Given the description of an element on the screen output the (x, y) to click on. 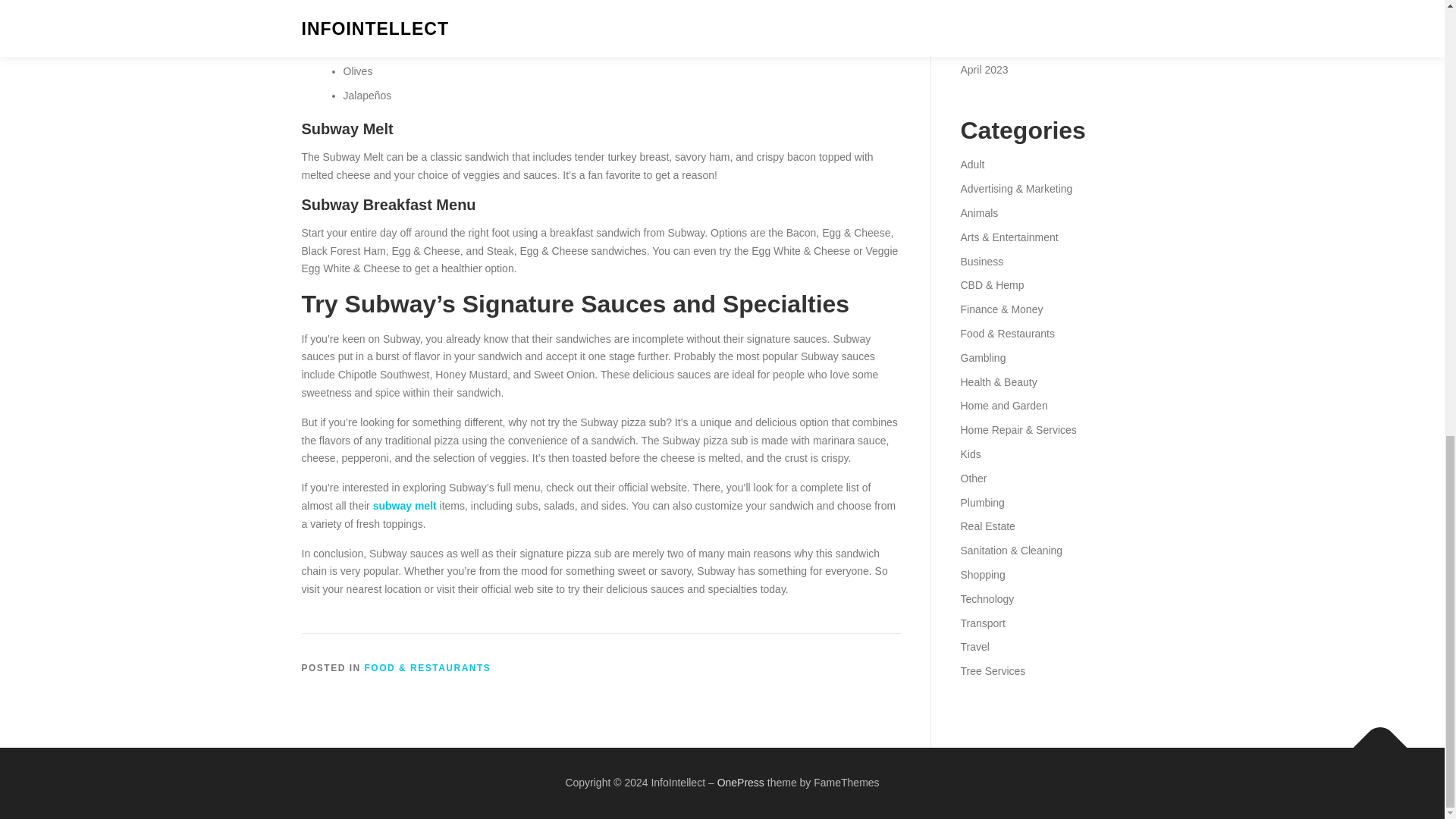
April 2023 (983, 69)
June 2023 (984, 21)
Adult (971, 164)
Animals (978, 213)
Business (981, 261)
May 2023 (982, 45)
Back To Top (1372, 740)
July 2023 (982, 2)
subway melt (404, 505)
